Given the description of an element on the screen output the (x, y) to click on. 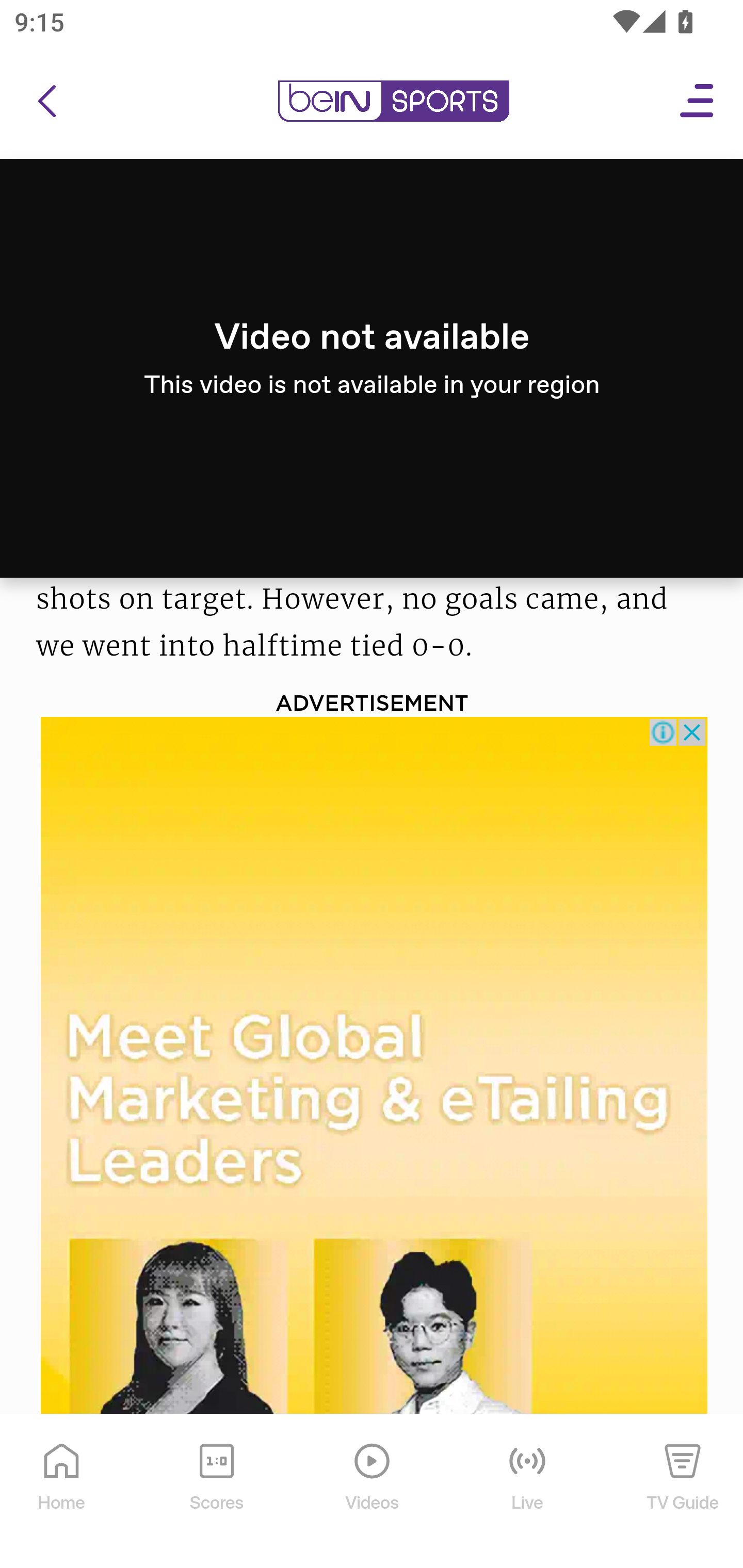
en-us?platform=mobile_android bein logo (392, 101)
icon back (46, 101)
Open Menu Icon (697, 101)
Home Home Icon Home (61, 1491)
Scores Scores Icon Scores (216, 1491)
Videos Videos Icon Videos (372, 1491)
TV Guide TV Guide Icon TV Guide (682, 1491)
